Given the description of an element on the screen output the (x, y) to click on. 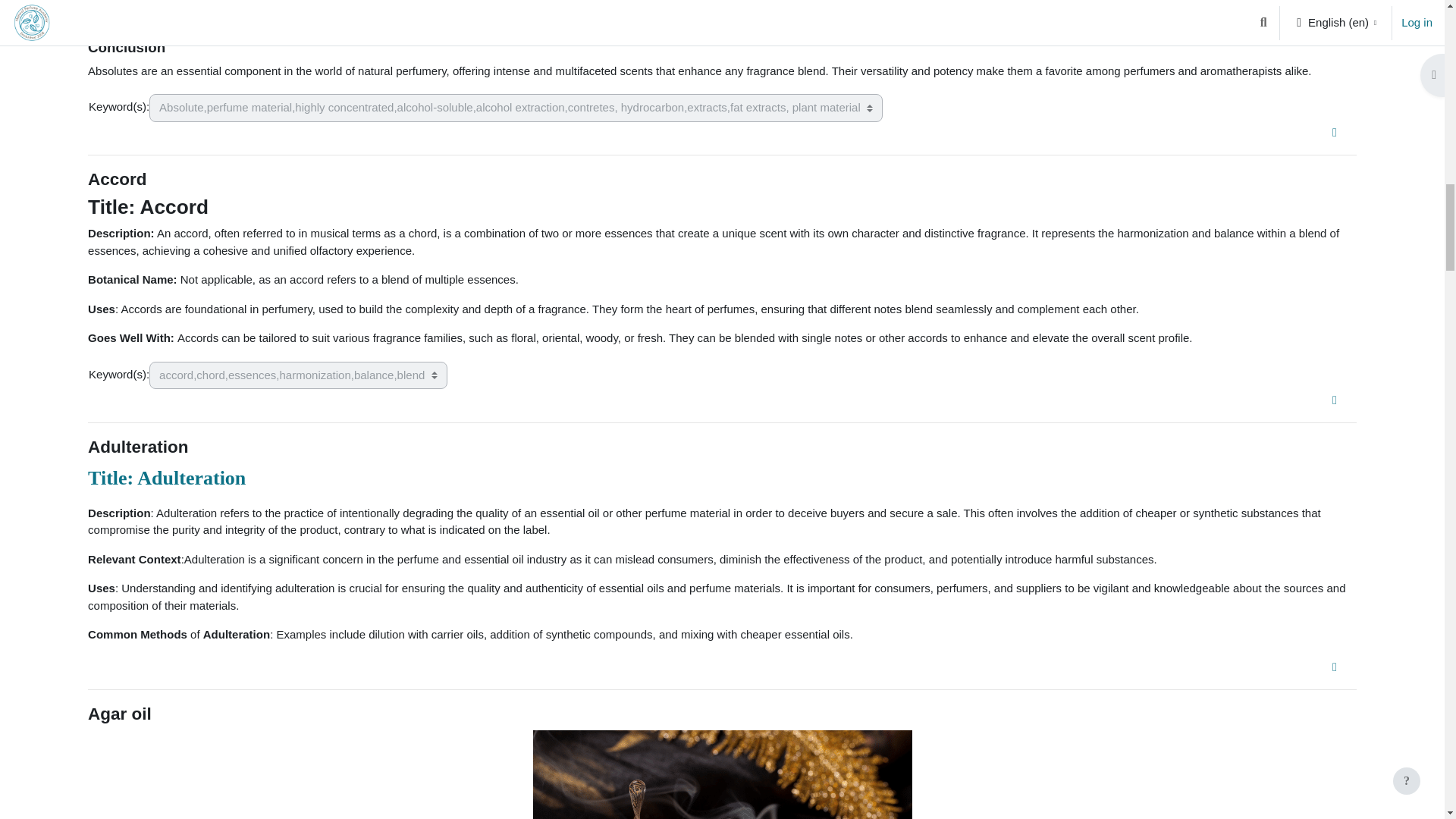
Entry link: Adulteration (1333, 666)
Entry link: Accord (1333, 399)
Entry link: Accord (1336, 399)
Entry link: Absolute: Botanical Name, Description, and Uses (1336, 132)
Entry link: Adulteration (1336, 666)
Entry link: Absolute: Botanical Name, Description, and Uses (1333, 132)
